Given the description of an element on the screen output the (x, y) to click on. 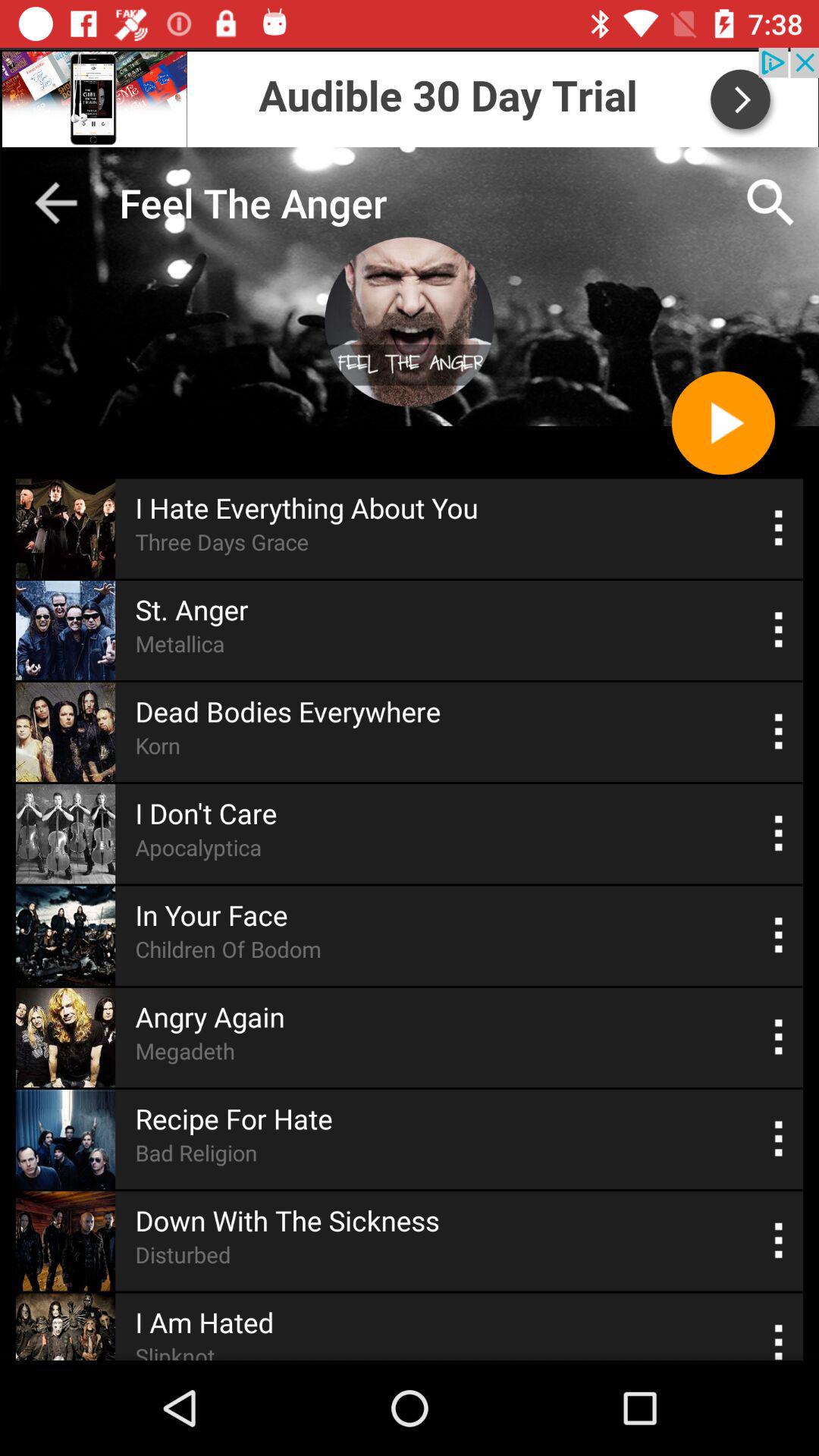
more options (779, 935)
